Given the description of an element on the screen output the (x, y) to click on. 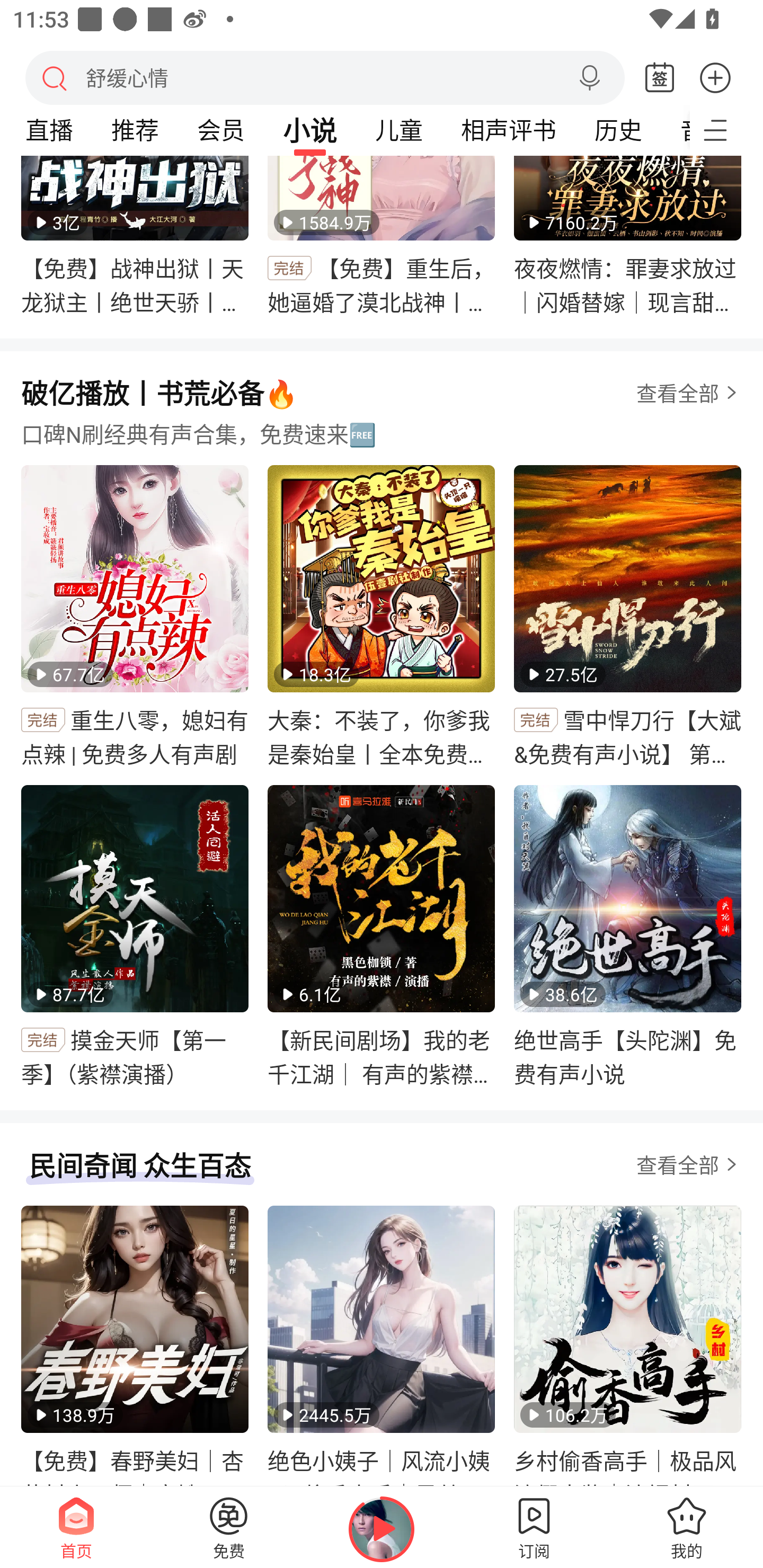
搜索 舒缓心情 语音搜索 (324, 77)
更多 (714, 77)
签到 (659, 78)
语音搜索 (589, 78)
直播 (49, 130)
推荐 (134, 130)
会员 (220, 130)
小说 (309, 130)
儿童 (398, 130)
相声评书 (508, 130)
历史 (618, 130)
更多频道 (726, 130)
3亿 【免费】战神出狱丨天龙狱主丨绝世天骄丨爆款上门龙婿 (134, 235)
1584.9万   【免费】重生后，她逼婚了漠北战神丨虐渣复仇丨情深不负丨AI多播 (381, 235)
7160.2万 夜夜燃情：罪妻求放过｜闪婚替嫁｜现言甜宠｜全本免费 (627, 235)
破亿播放丨书荒必备🔥 查看全部 口碑N刷经典有声合集，免费速来🆓 (381, 419)
查看全部 (677, 392)
67.7亿   重生八零，媳妇有点辣 | 免费多人有声剧 (134, 617)
18.3亿 大秦：不装了，你爹我是秦始皇丨全本免费丨爆笑穿越丨伍壹剧社多人剧|赵家继承人秦朝 (381, 617)
27.5亿   雪中悍刀行【大斌&免费有声小说】 第一季 (627, 617)
87.7亿   摸金天师【第一季】（紫襟演播） (134, 937)
6.1亿 【新民间剧场】我的老千江湖｜ 有声的紫襟｜免费版 | 魔幻千手 (381, 937)
38.6亿 绝世高手【头陀渊】免费有声小说 (627, 937)
民间奇闻 众生百态 查看全部 (381, 1174)
查看全部 (688, 1164)
138.9万 【免费】春野美妇｜杏花村小天师｜寡嫂凶猛｜寻龙点穴｜AI多播 (134, 1348)
2445.5万 绝色小姨子｜风流小姨子&偷香高手｜黑丝美女 (381, 1348)
106.2万 乡村偷香高手｜极品风流假太监｜流氓村医｜邪医修仙传 (627, 1348)
首页 (76, 1526)
免费 (228, 1526)
订阅 (533, 1526)
我的 (686, 1526)
继续播放Alpha-橘子海OrangeOcean (381, 1529)
